Given the description of an element on the screen output the (x, y) to click on. 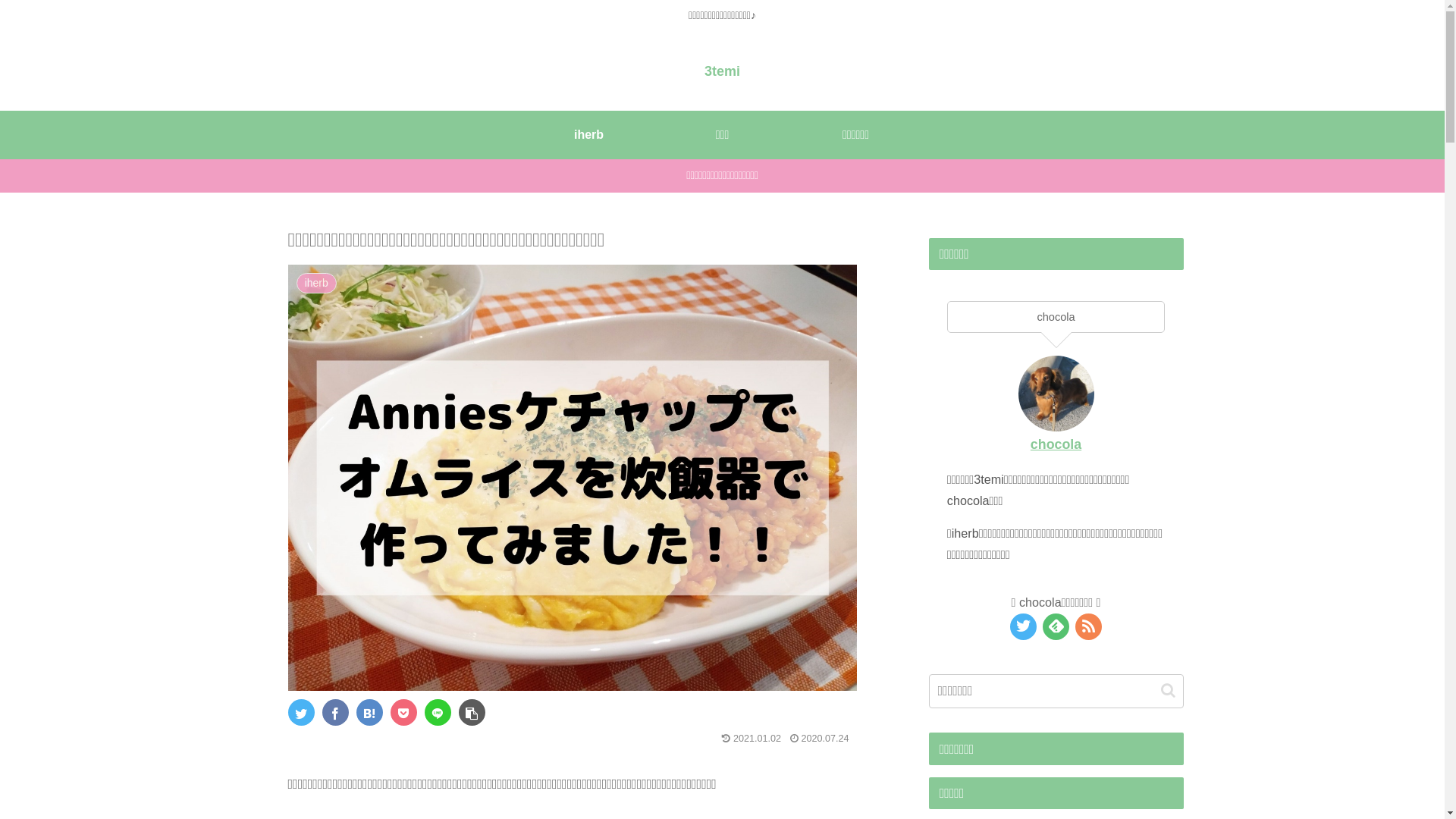
iherb Element type: text (588, 134)
3temi Element type: text (722, 70)
chocola Element type: text (1055, 443)
